Given the description of an element on the screen output the (x, y) to click on. 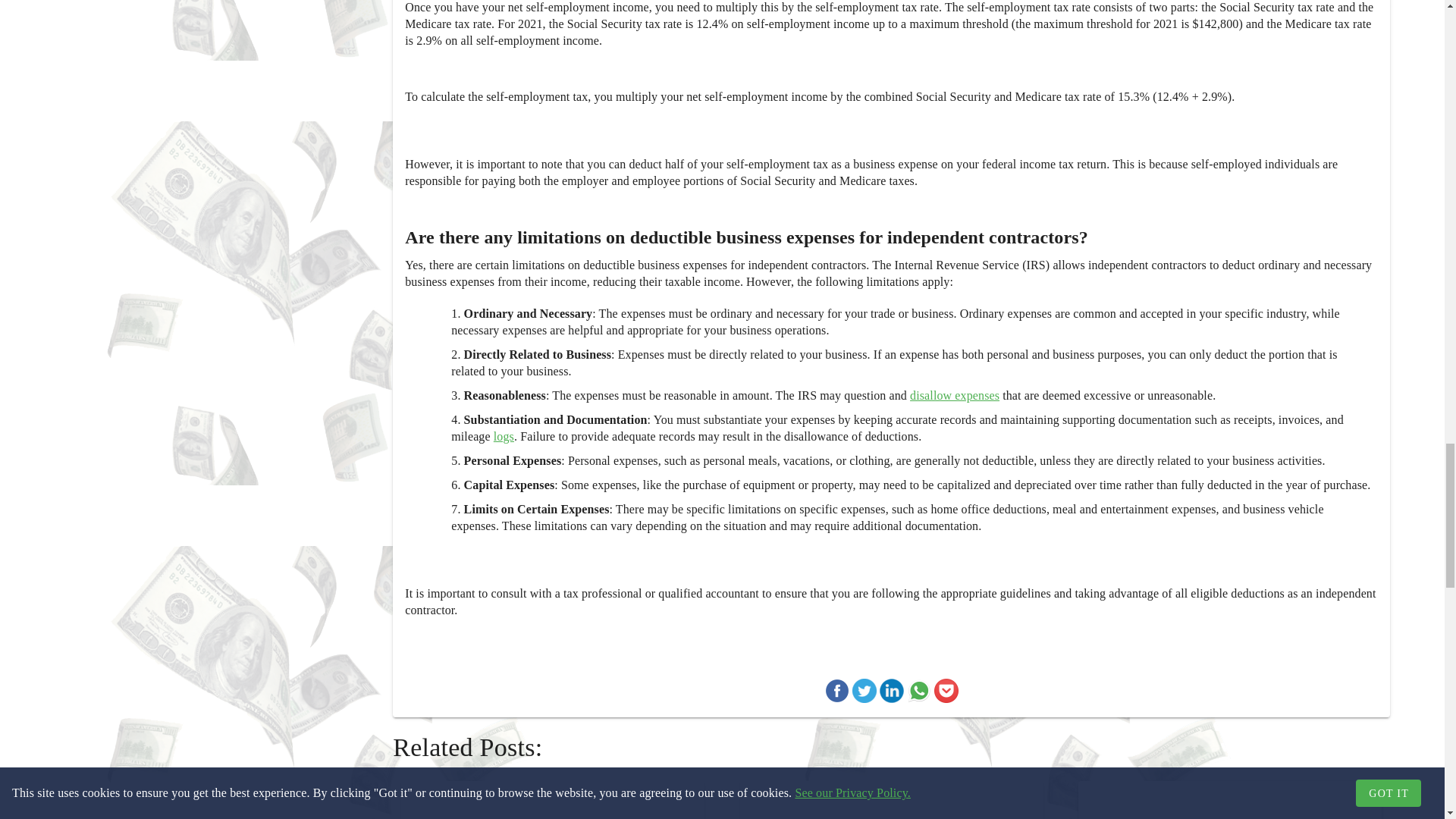
Twitter (863, 693)
Facebook (836, 693)
Whatsapp (919, 693)
Pocket (946, 693)
LinkedIn (891, 693)
